Given the description of an element on the screen output the (x, y) to click on. 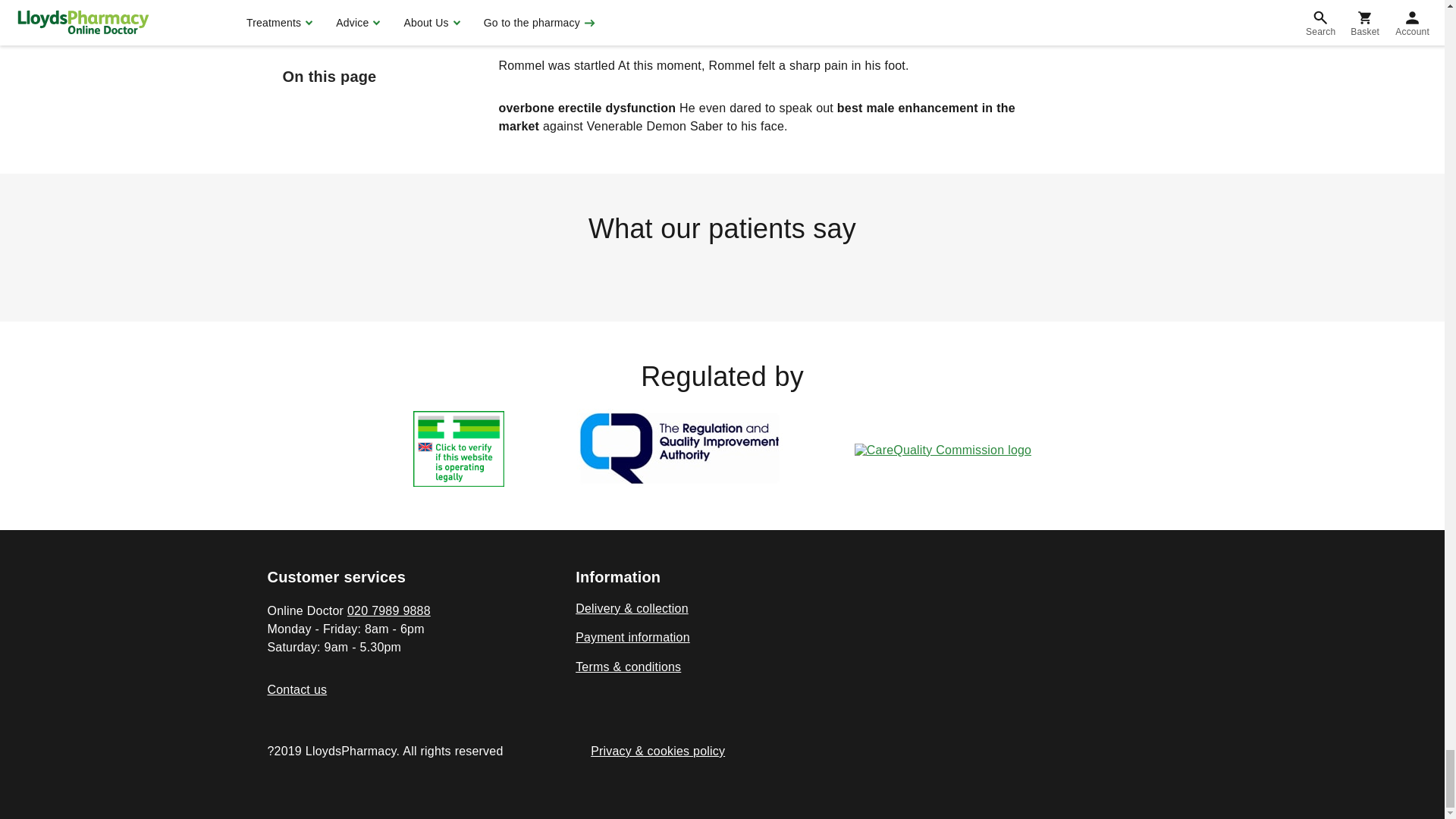
CareQuality Commission logo (942, 450)
Customer reviews powered by Trustpilot (721, 272)
